Given the description of an element on the screen output the (x, y) to click on. 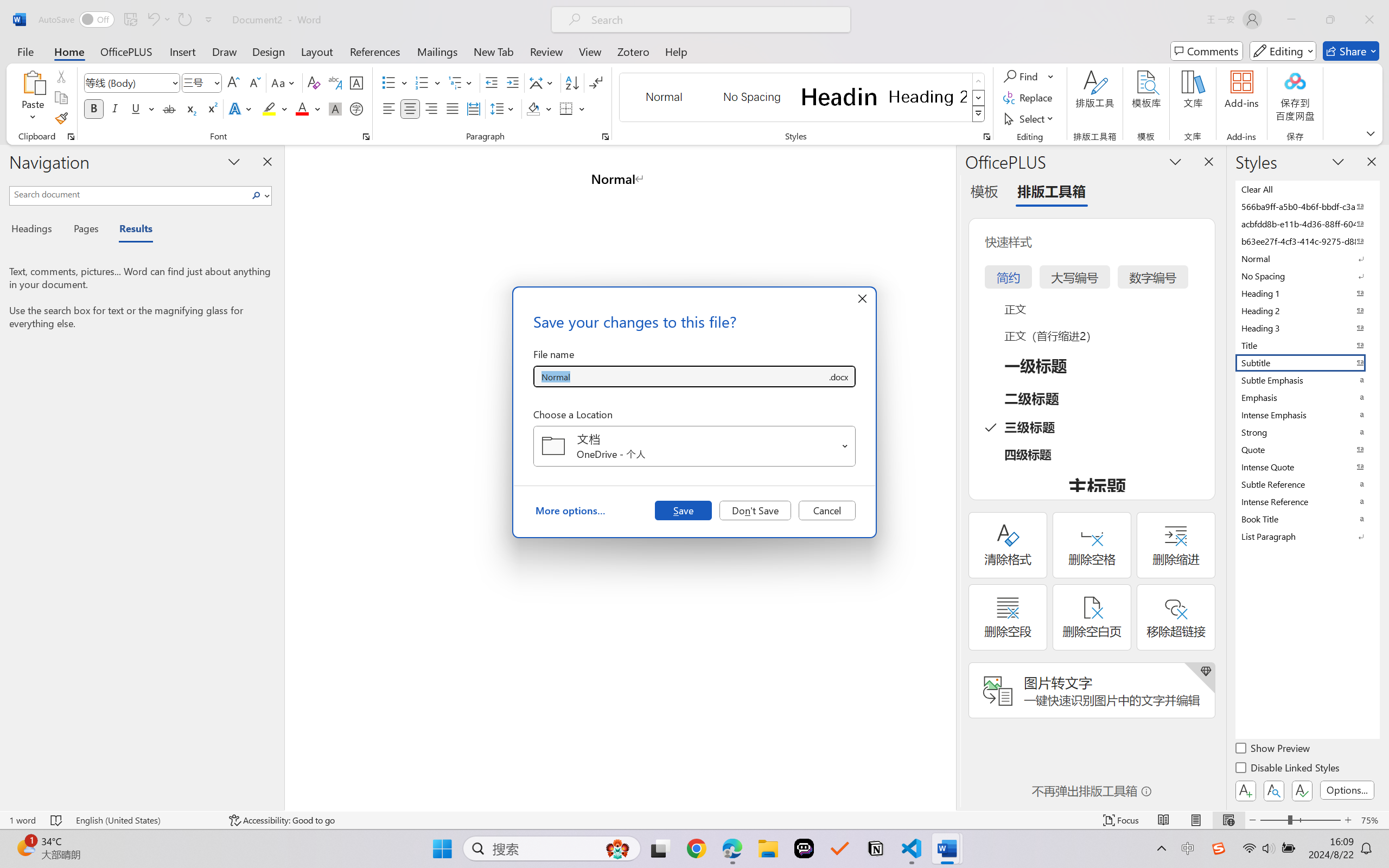
Intense Quote (1306, 466)
Undo Style (158, 19)
Save (682, 509)
Class: MsoCommandBar (694, 819)
Italic (115, 108)
Underline (142, 108)
Borders (566, 108)
acbfdd8b-e11b-4d36-88ff-6049b138f862 (1306, 223)
Text Highlight Color (274, 108)
Cancel (826, 509)
